Given the description of an element on the screen output the (x, y) to click on. 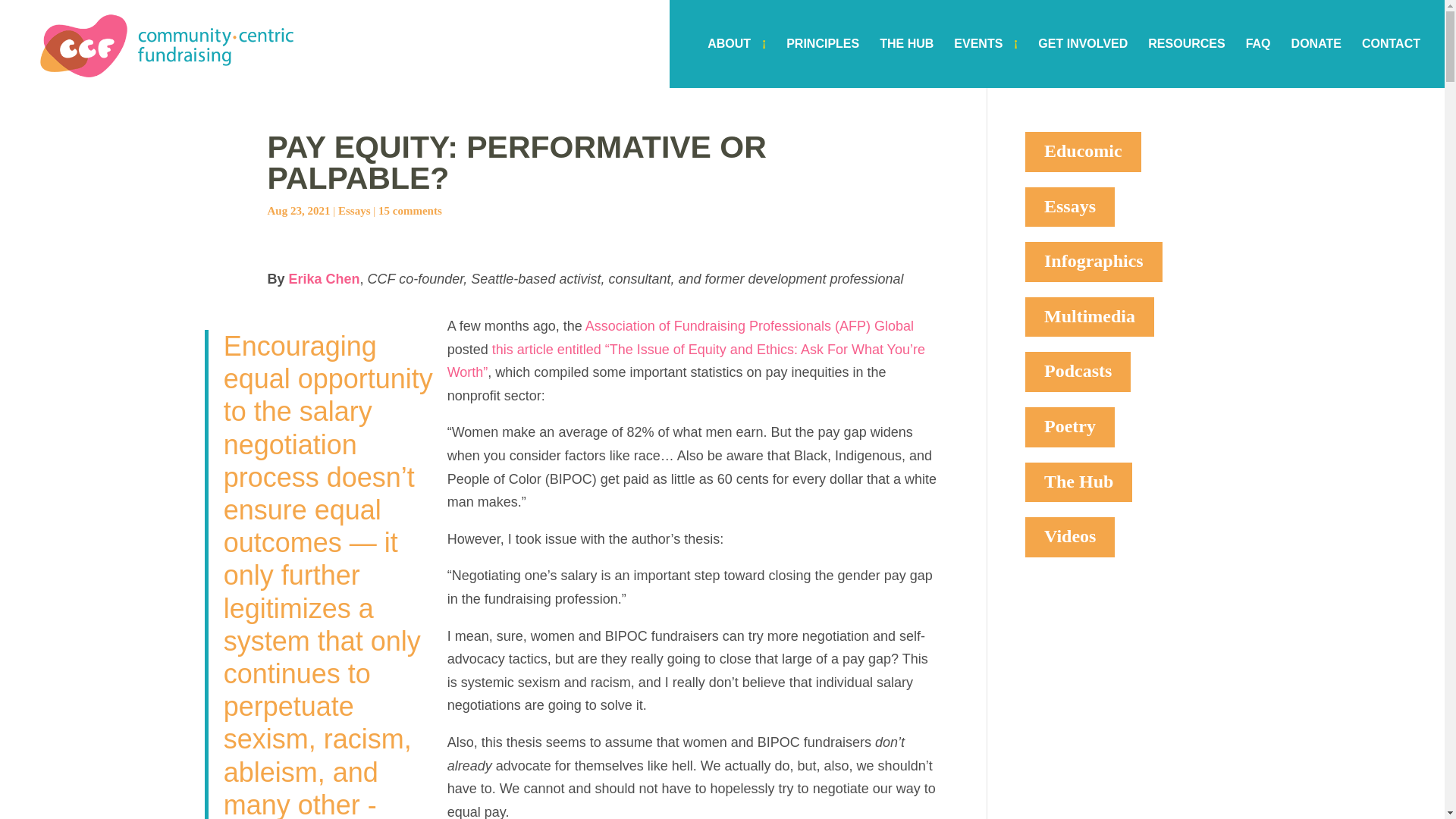
RESOURCES (1186, 62)
PRINCIPLES (822, 62)
Essays (354, 210)
GET INVOLVED (1082, 62)
EVENTS (985, 62)
CONTACT (1391, 62)
Erika Chen (323, 278)
THE HUB (906, 62)
DONATE (1315, 62)
ABOUT (736, 62)
